Given the description of an element on the screen output the (x, y) to click on. 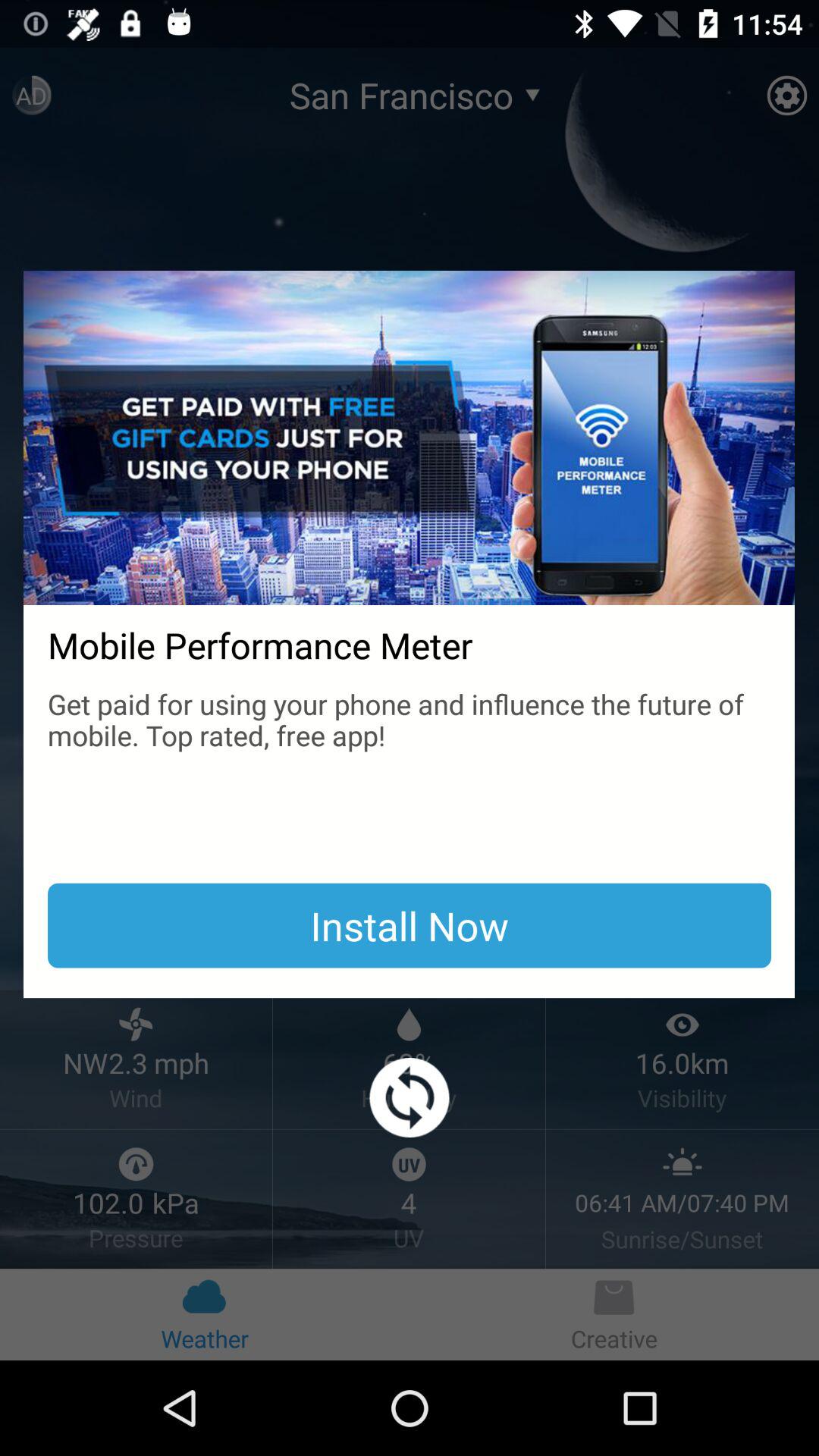
select install now icon (409, 925)
